Given the description of an element on the screen output the (x, y) to click on. 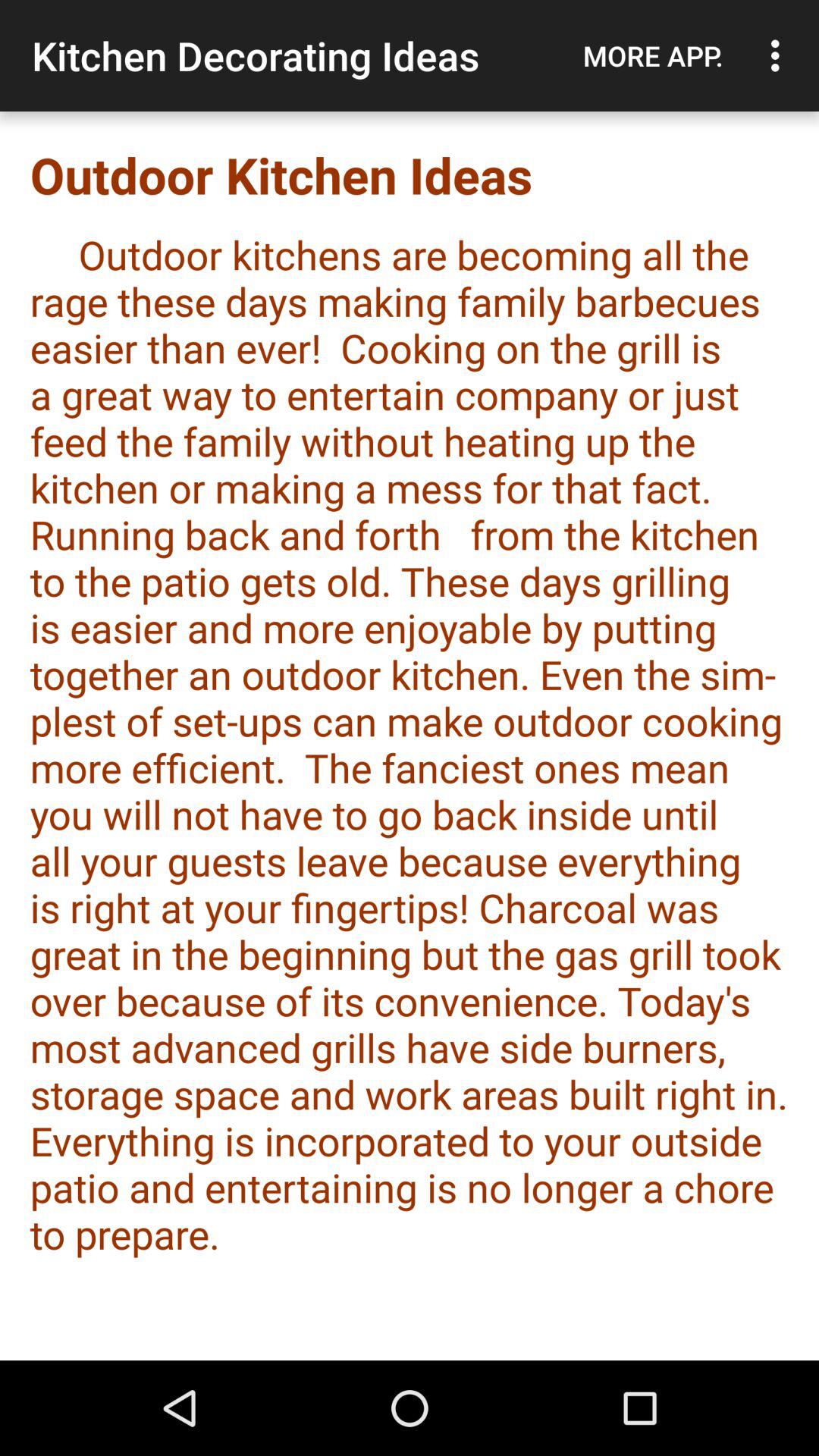
select icon next to the more app. (779, 55)
